Given the description of an element on the screen output the (x, y) to click on. 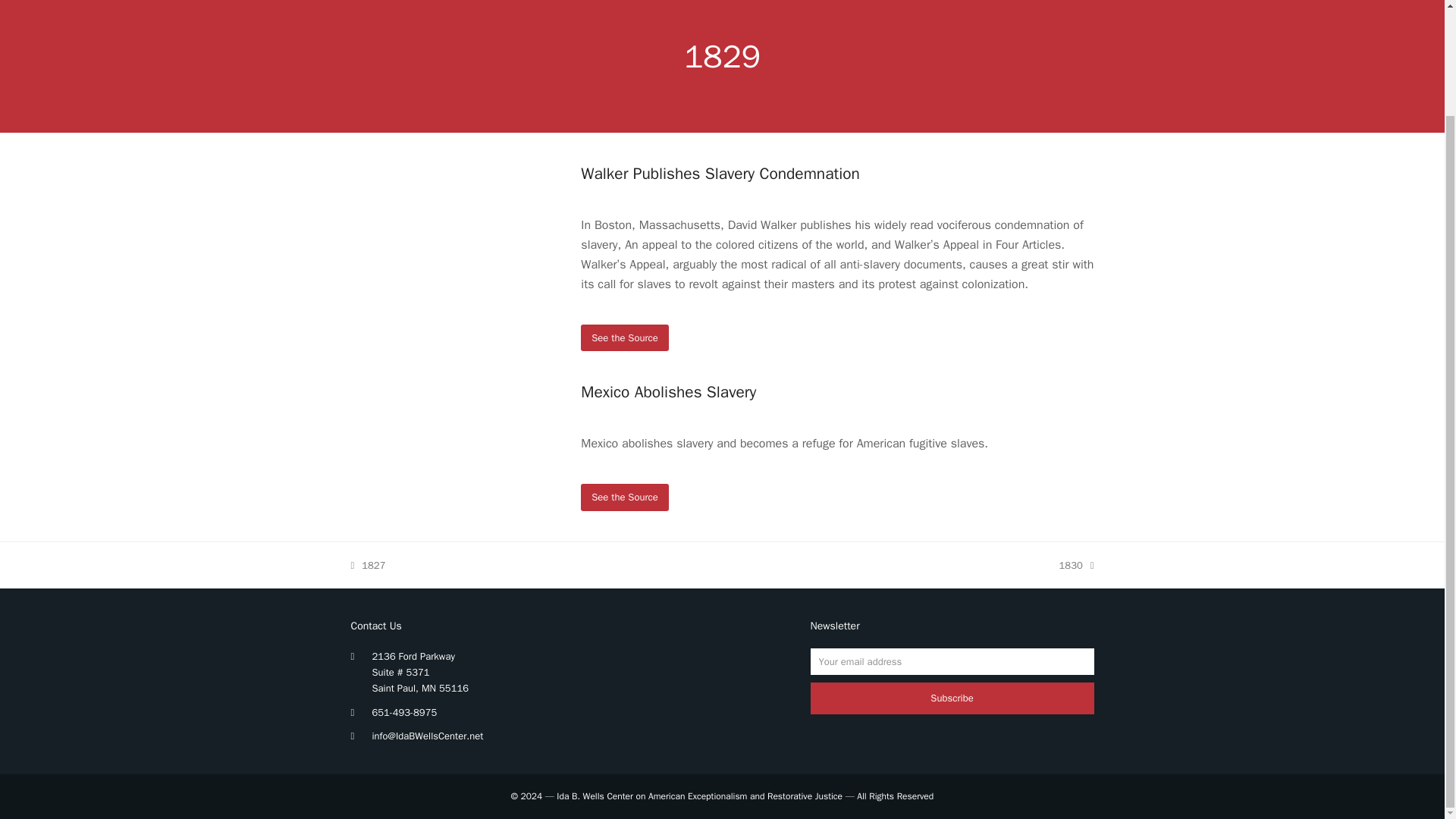
See the Source (1076, 565)
651-493-8975 (624, 497)
See the Source (403, 712)
Subscribe (367, 565)
